Given the description of an element on the screen output the (x, y) to click on. 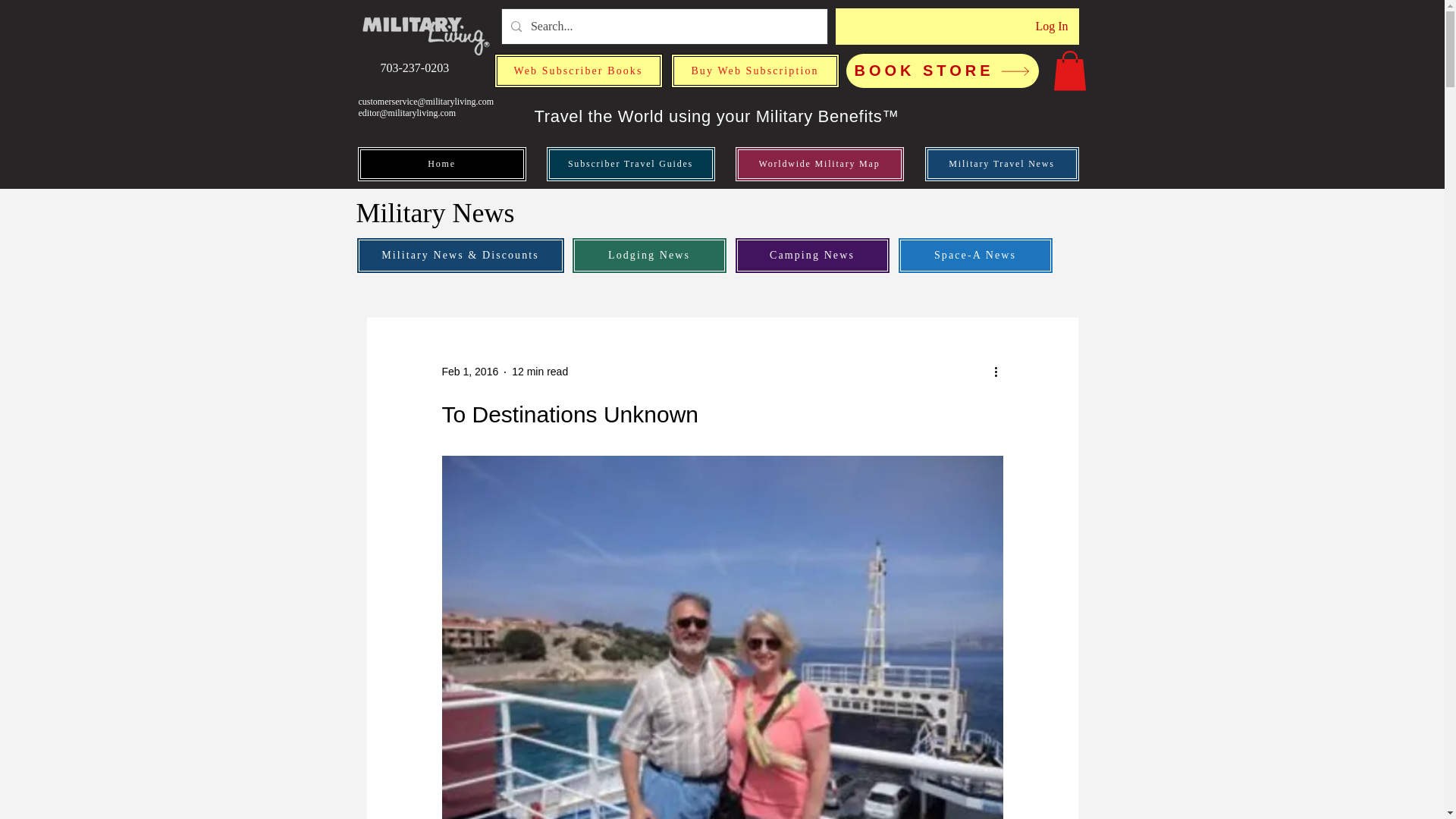
Camping News (811, 255)
Web Subscriber Books (578, 70)
Feb 1, 2016 (469, 371)
BOOK STORE (942, 70)
Military News  (438, 213)
Home (441, 163)
Military Travel News (1001, 163)
Log In (1051, 26)
Buy Web Subscription (753, 70)
Space-A News (975, 255)
12 min read (539, 371)
Worldwide Military Map (819, 163)
Subscriber Travel Guides (630, 163)
Lodging News (649, 255)
